Given the description of an element on the screen output the (x, y) to click on. 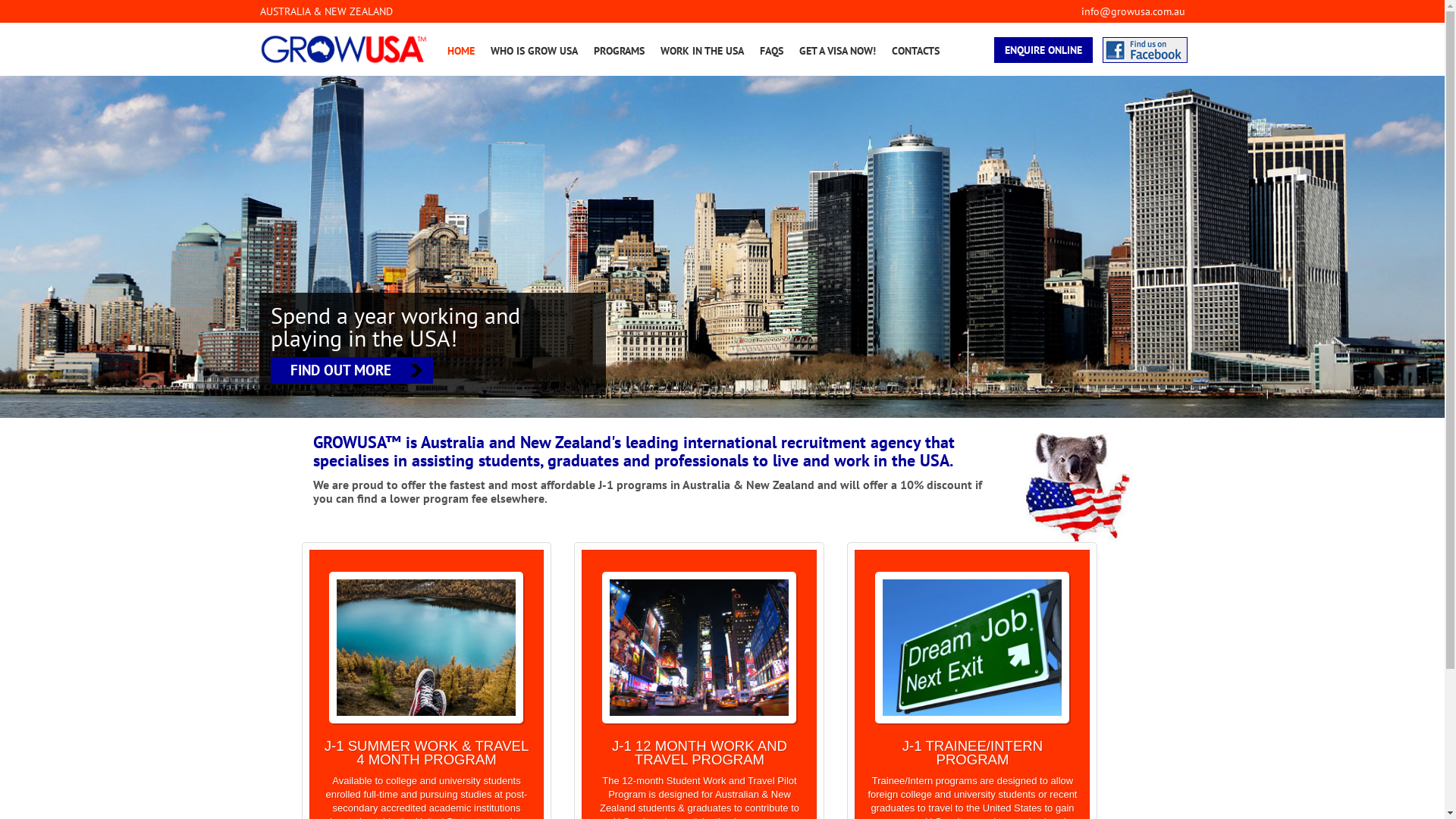
HOME Element type: text (460, 50)
FIND OUT MORE Element type: text (350, 370)
Facebook Element type: text (1144, 49)
GET A VISA NOW! Element type: text (837, 50)
PROGRAMS Element type: text (618, 50)
WHO IS GROW USA Element type: text (533, 50)
WORK IN THE USA Element type: text (701, 50)
CONTACTS Element type: text (915, 50)
FAQS Element type: text (771, 50)
ENQUIRE ONLINE Element type: text (1042, 49)
info@growusa.com.au Element type: text (1133, 11)
